Given the description of an element on the screen output the (x, y) to click on. 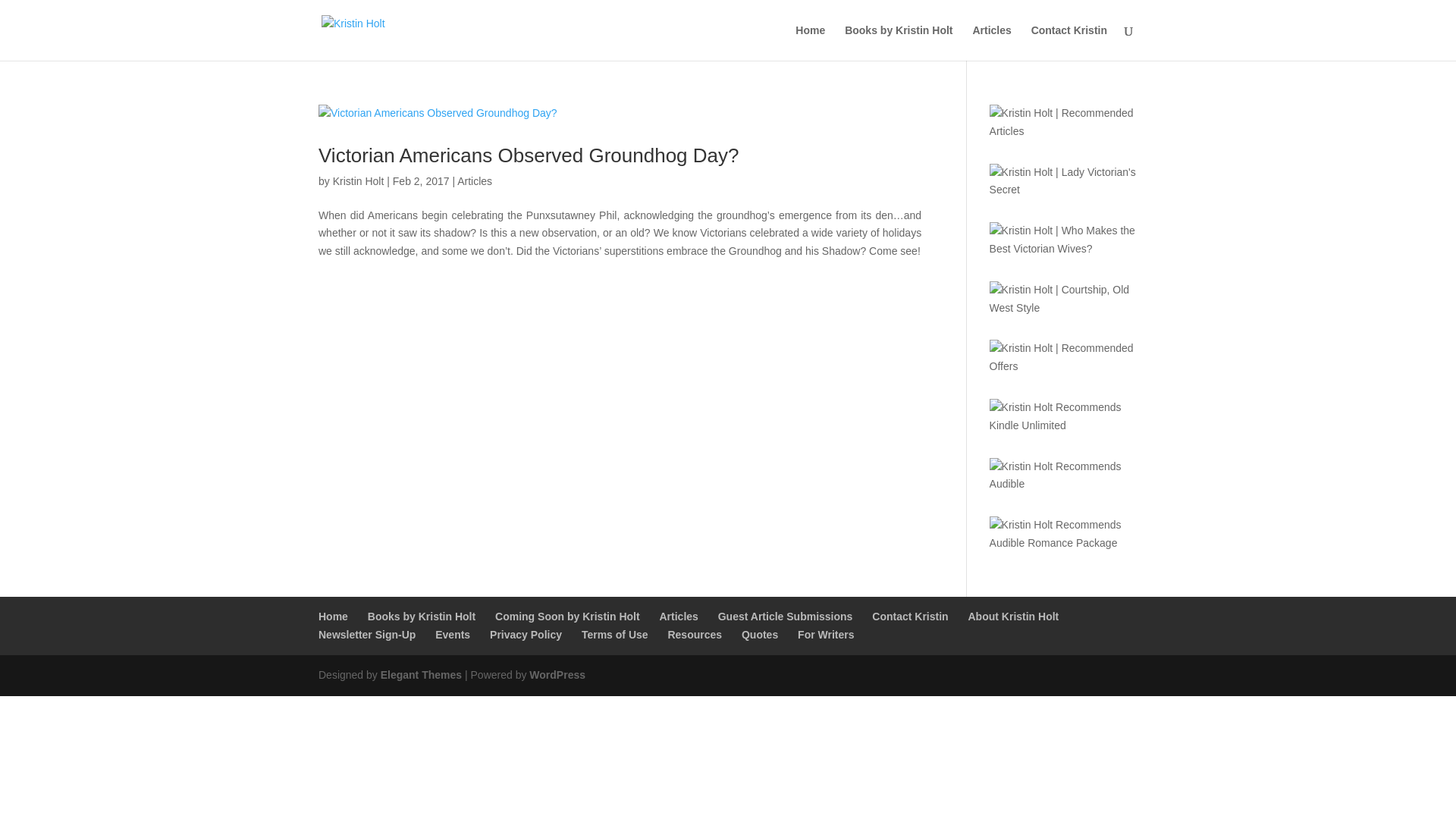
Elegant Themes (420, 674)
Posts by Kristin Holt (358, 181)
Articles (678, 616)
Articles (474, 181)
Contact Kristin (1068, 42)
Quotes (759, 634)
WordPress (557, 674)
Victorian Americans Observed Groundhog Day? (528, 155)
Contact Kristin (909, 616)
Privacy Policy (525, 634)
Coming Soon by Kristin Holt (567, 616)
Terms of Use (613, 634)
Articles (991, 42)
Kristin Holt (358, 181)
Resources (694, 634)
